Given the description of an element on the screen output the (x, y) to click on. 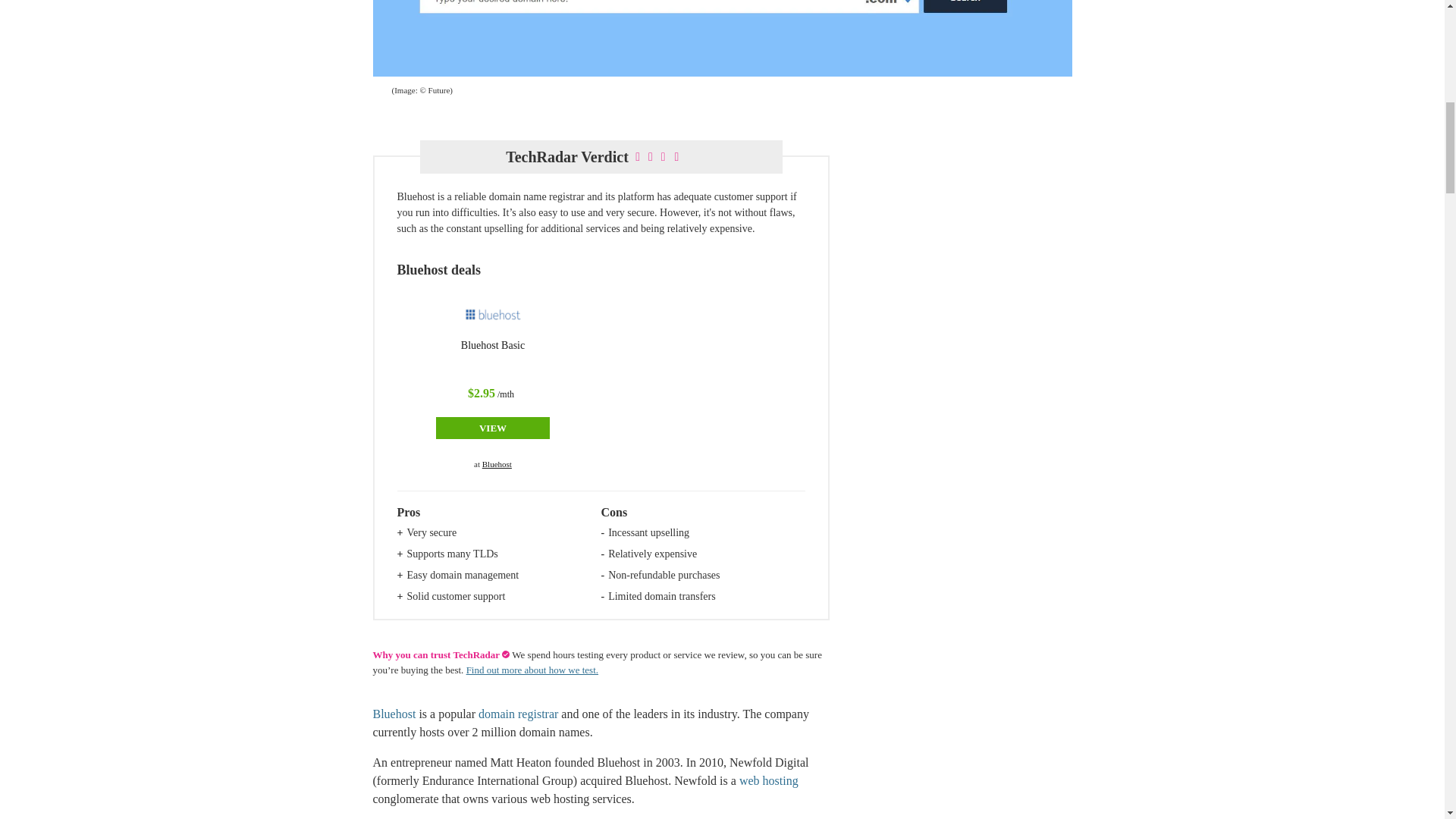
Bluehost (492, 314)
